Given the description of an element on the screen output the (x, y) to click on. 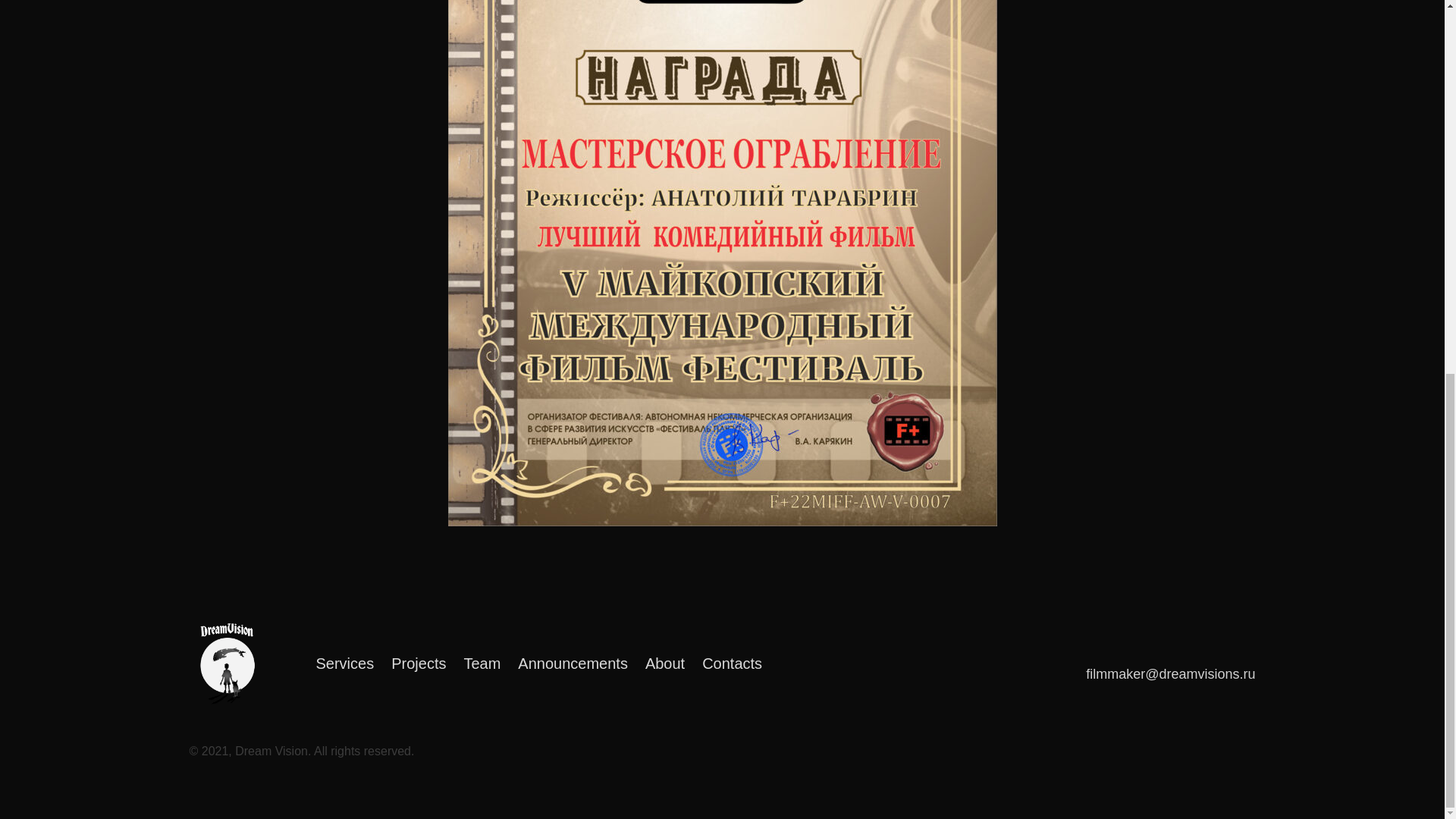
Contacts (731, 663)
Team (481, 663)
Projects (418, 663)
Announcements (572, 663)
Services (344, 663)
About (664, 663)
